Given the description of an element on the screen output the (x, y) to click on. 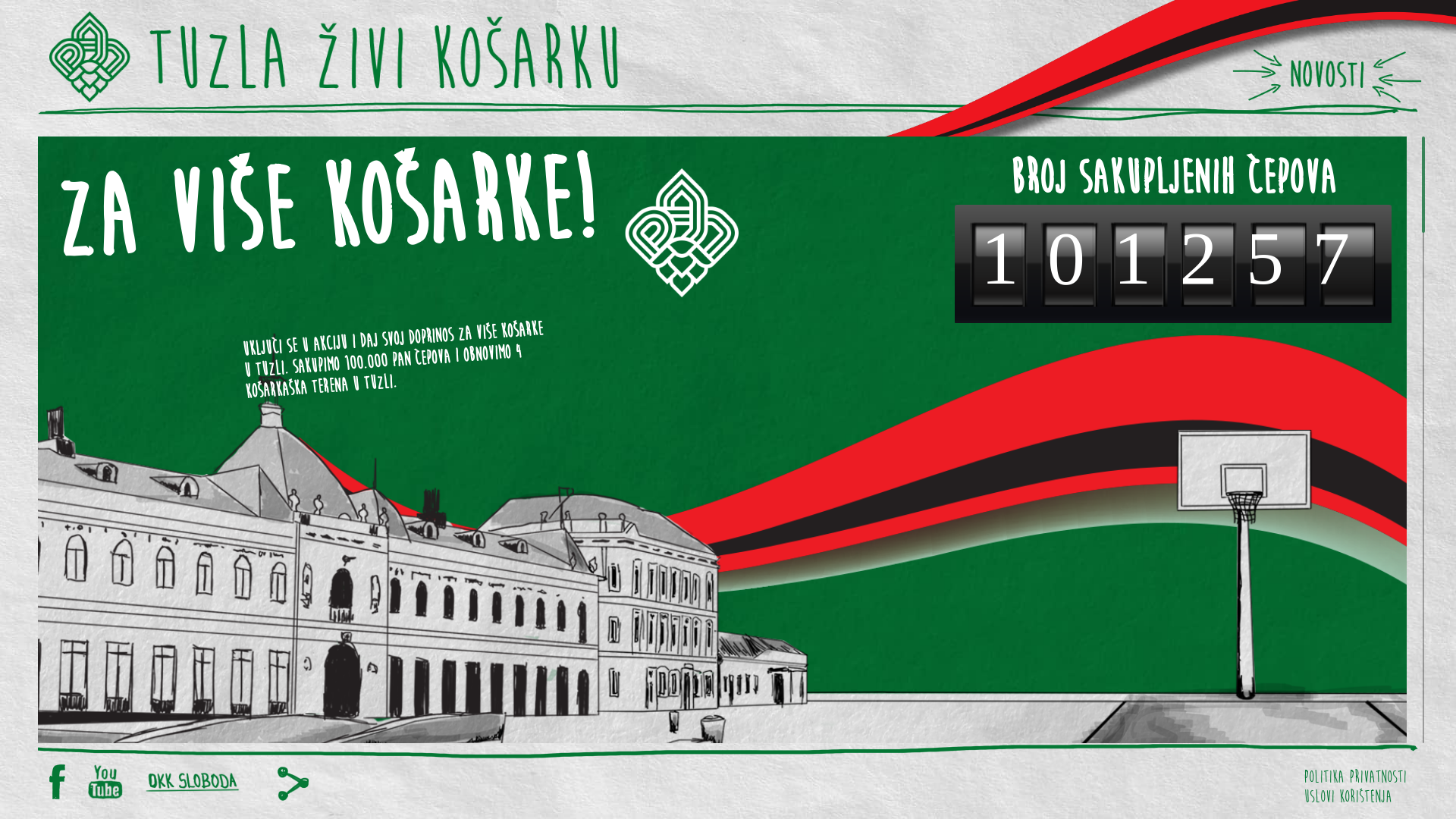
Politika privatnosti Element type: text (1354, 773)
